Given the description of an element on the screen output the (x, y) to click on. 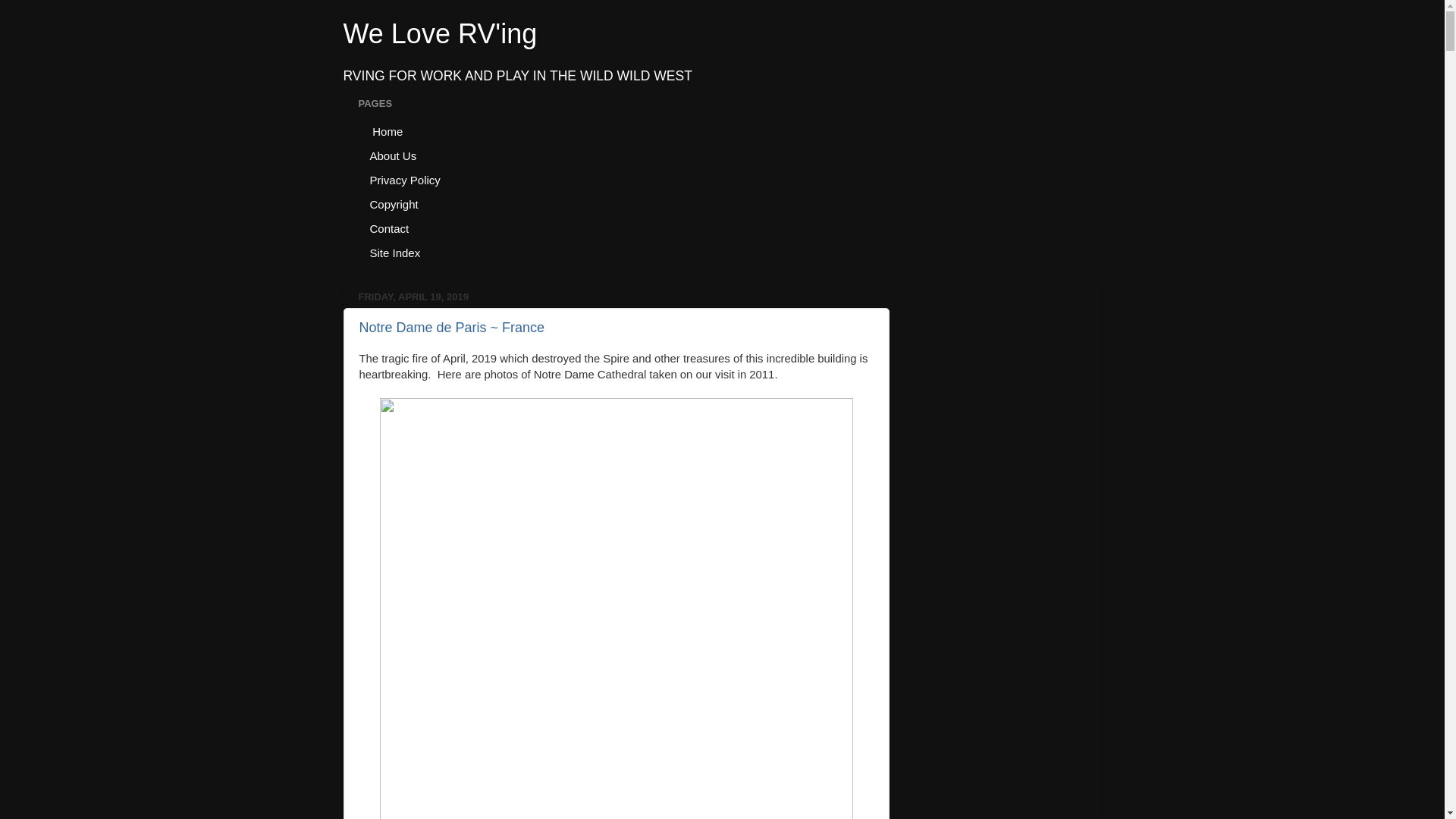
Copyright (393, 203)
Contact (389, 228)
We Love RV'ing (439, 33)
Privacy Policy (404, 179)
About Us (393, 155)
Site Index (395, 252)
Home (386, 130)
